Given the description of an element on the screen output the (x, y) to click on. 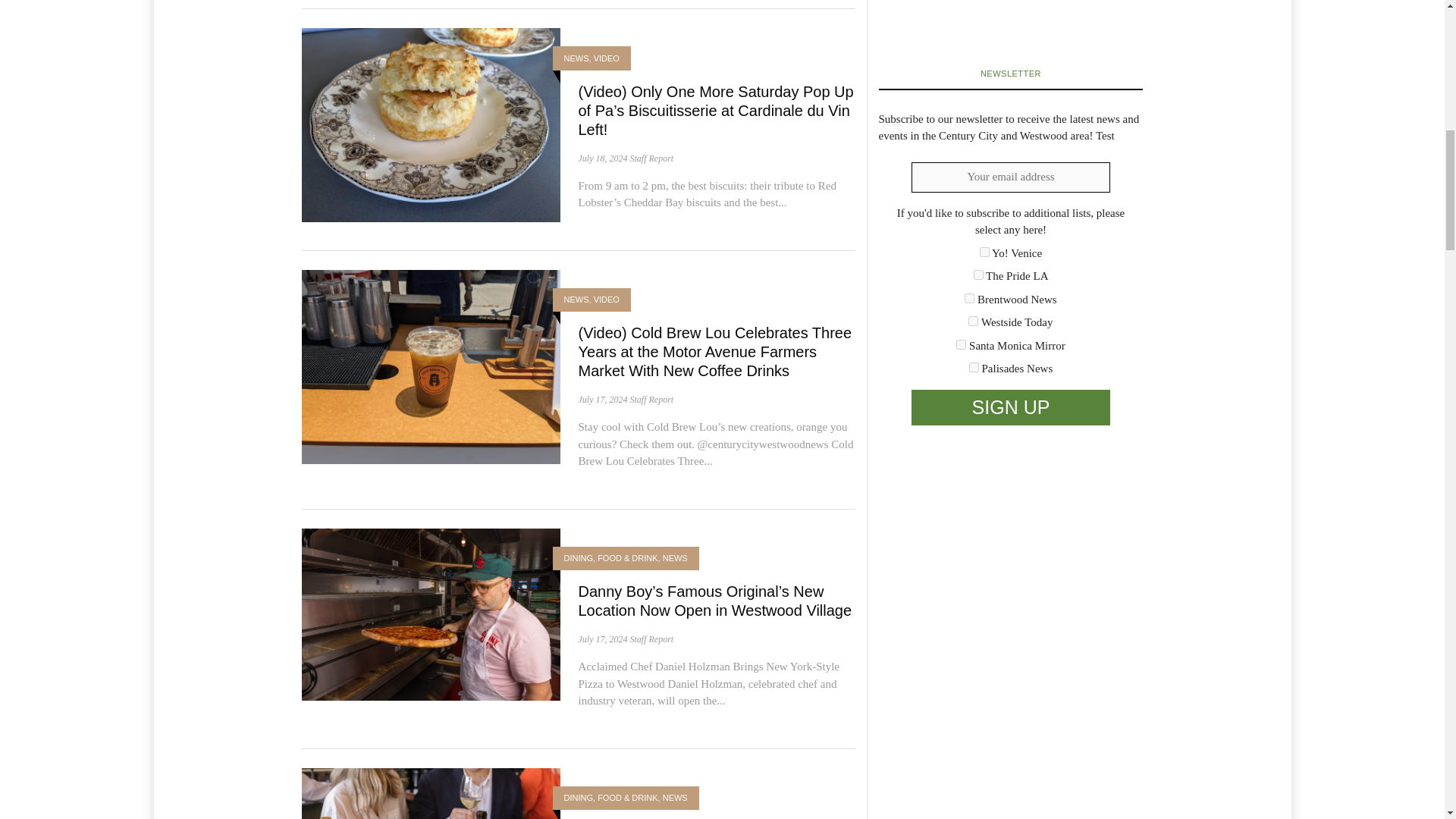
a3d1b6d535 (973, 320)
Posts by Staff Report (650, 638)
Posts by Staff Report (650, 398)
Sign up (1010, 407)
382281a661 (968, 298)
ec7d882848 (973, 367)
2c616d28b5 (984, 252)
d0b5733862 (961, 344)
Posts by Staff Report (650, 158)
33f79e7e4d (979, 275)
